Given the description of an element on the screen output the (x, y) to click on. 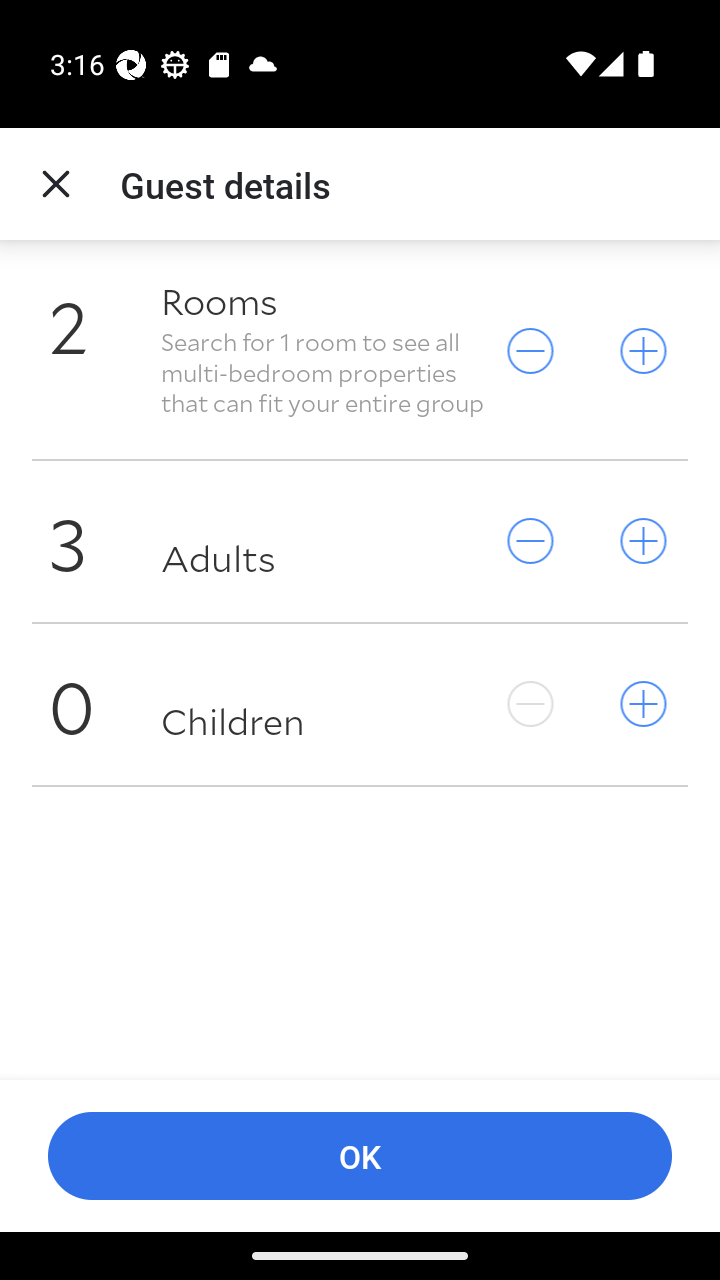
OK (359, 1156)
